Given the description of an element on the screen output the (x, y) to click on. 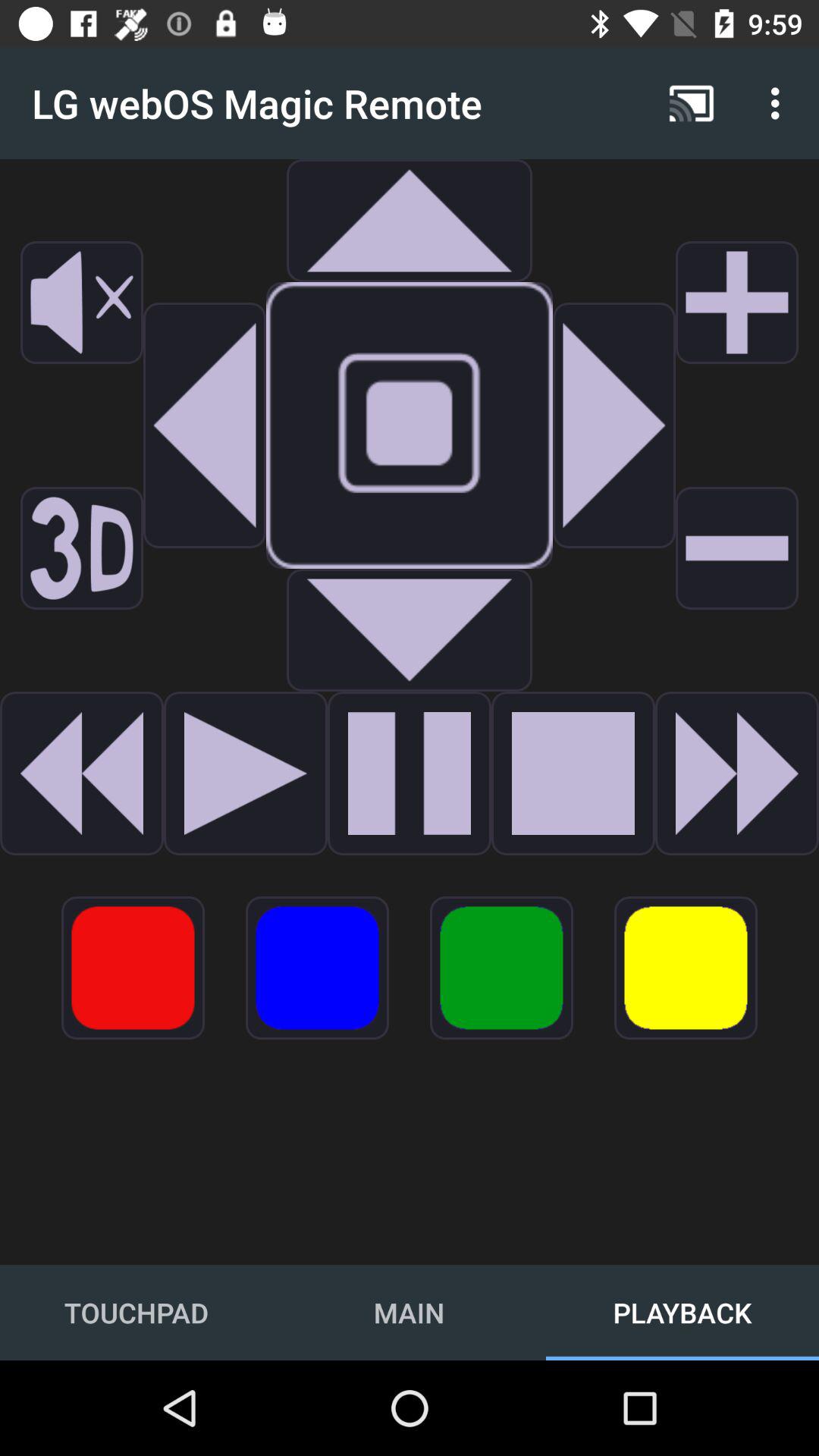
add more (736, 302)
